Given the description of an element on the screen output the (x, y) to click on. 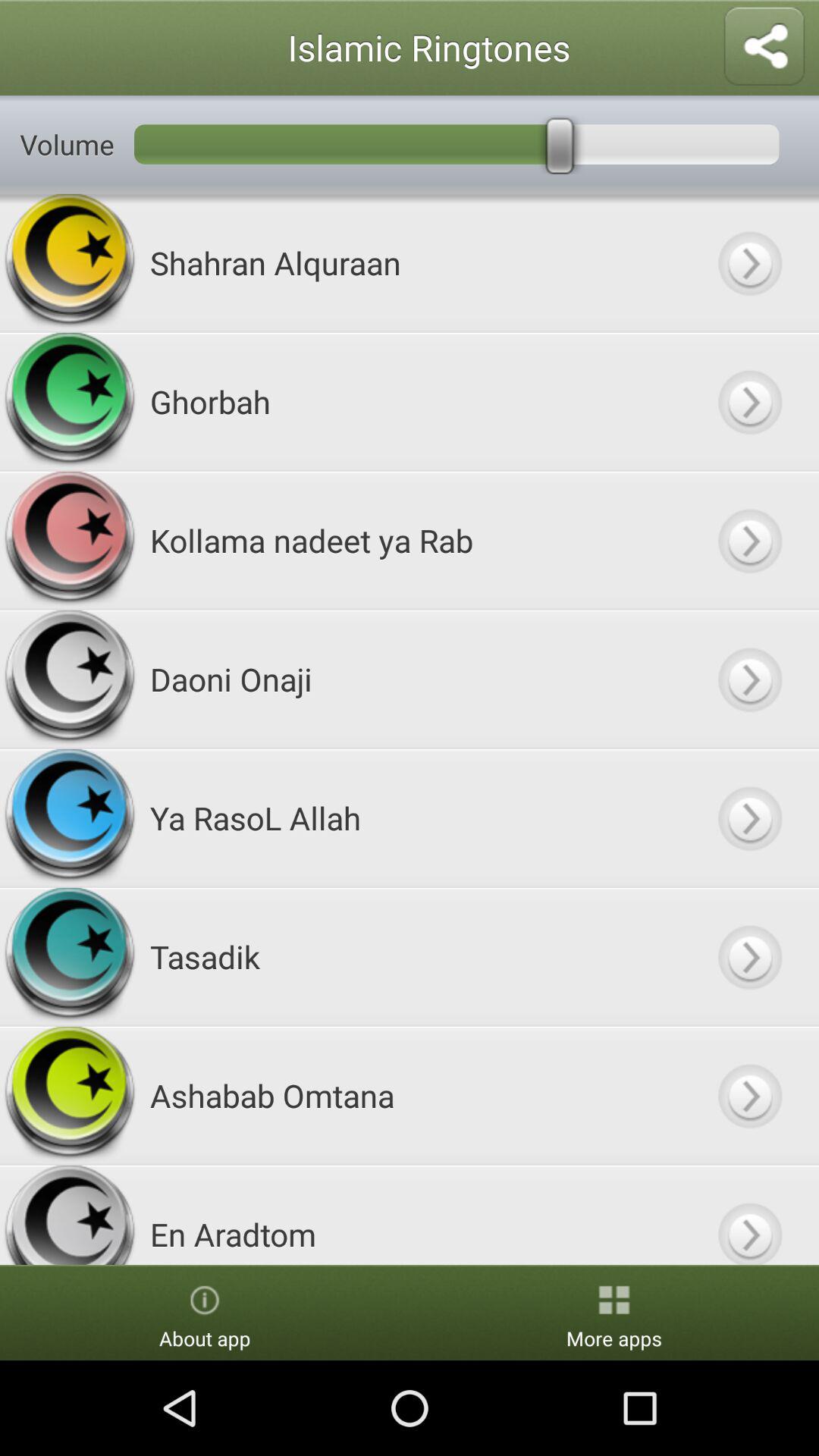
go to en aradtom page (749, 1214)
